Given the description of an element on the screen output the (x, y) to click on. 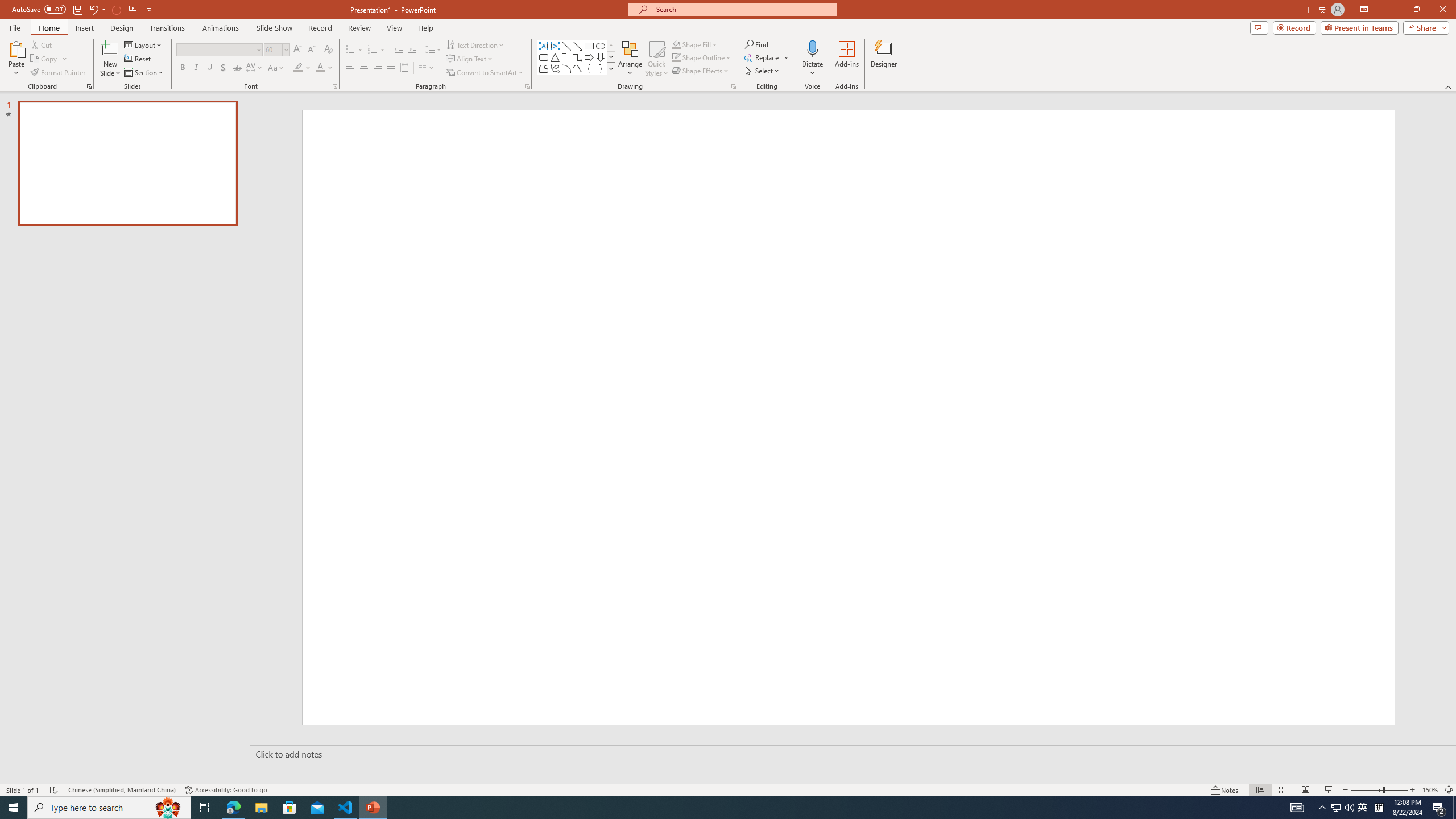
Shape Effects (700, 69)
